Given the description of an element on the screen output the (x, y) to click on. 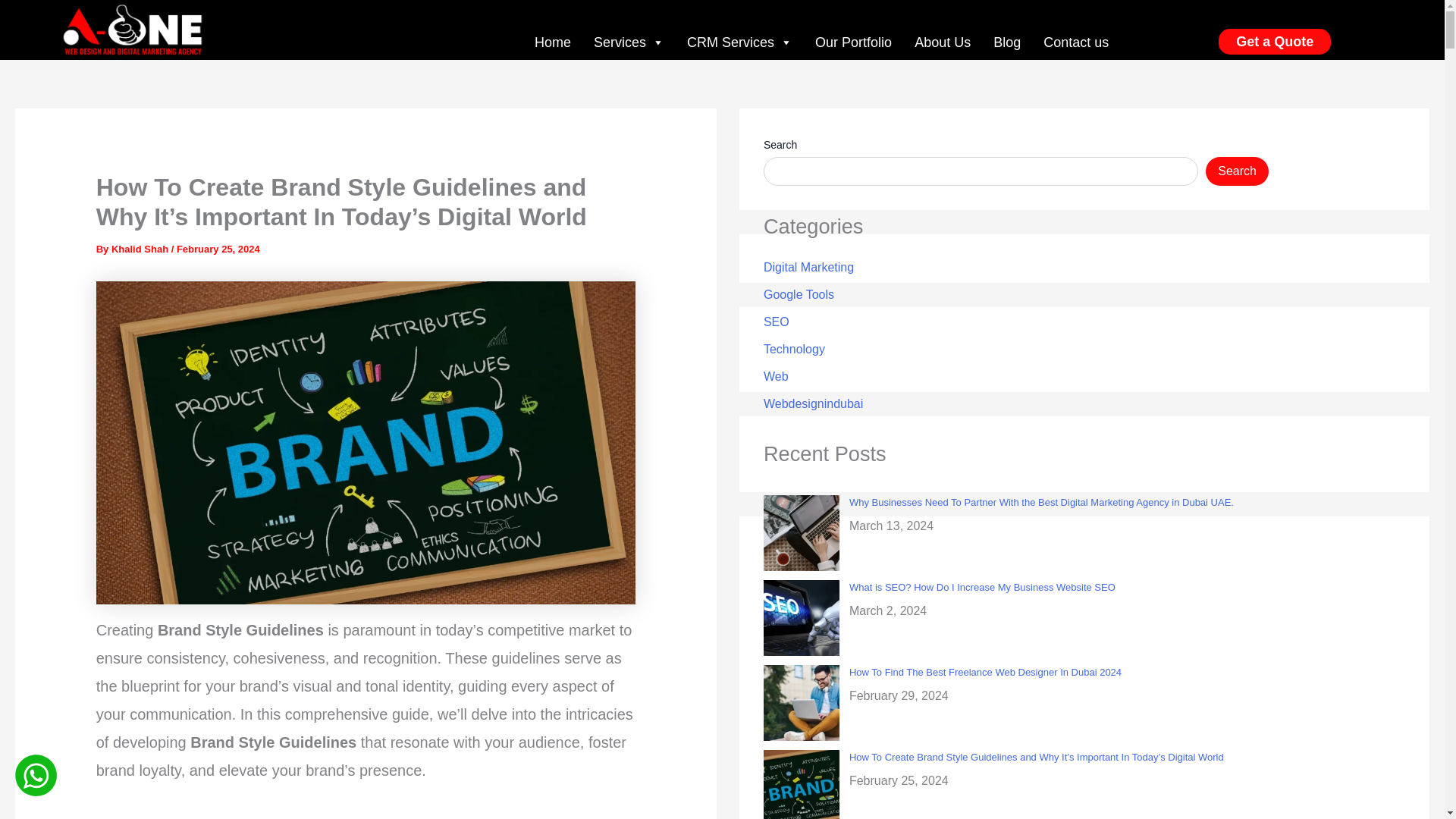
View all posts by Khalid Shah (141, 248)
CRM Services (739, 42)
Services (628, 42)
Home (553, 42)
